Given the description of an element on the screen output the (x, y) to click on. 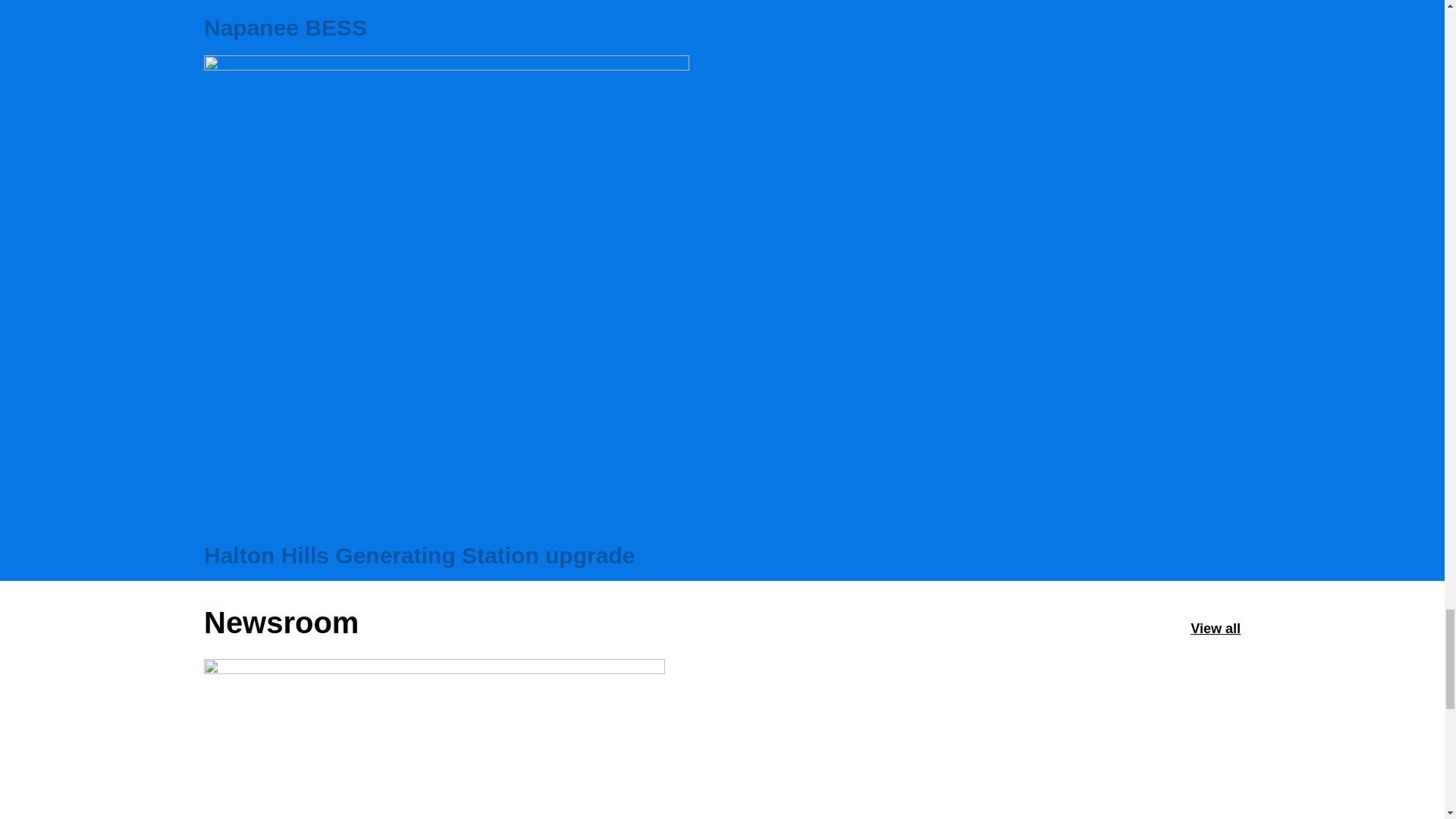
Napanee BESS (721, 22)
